Given the description of an element on the screen output the (x, y) to click on. 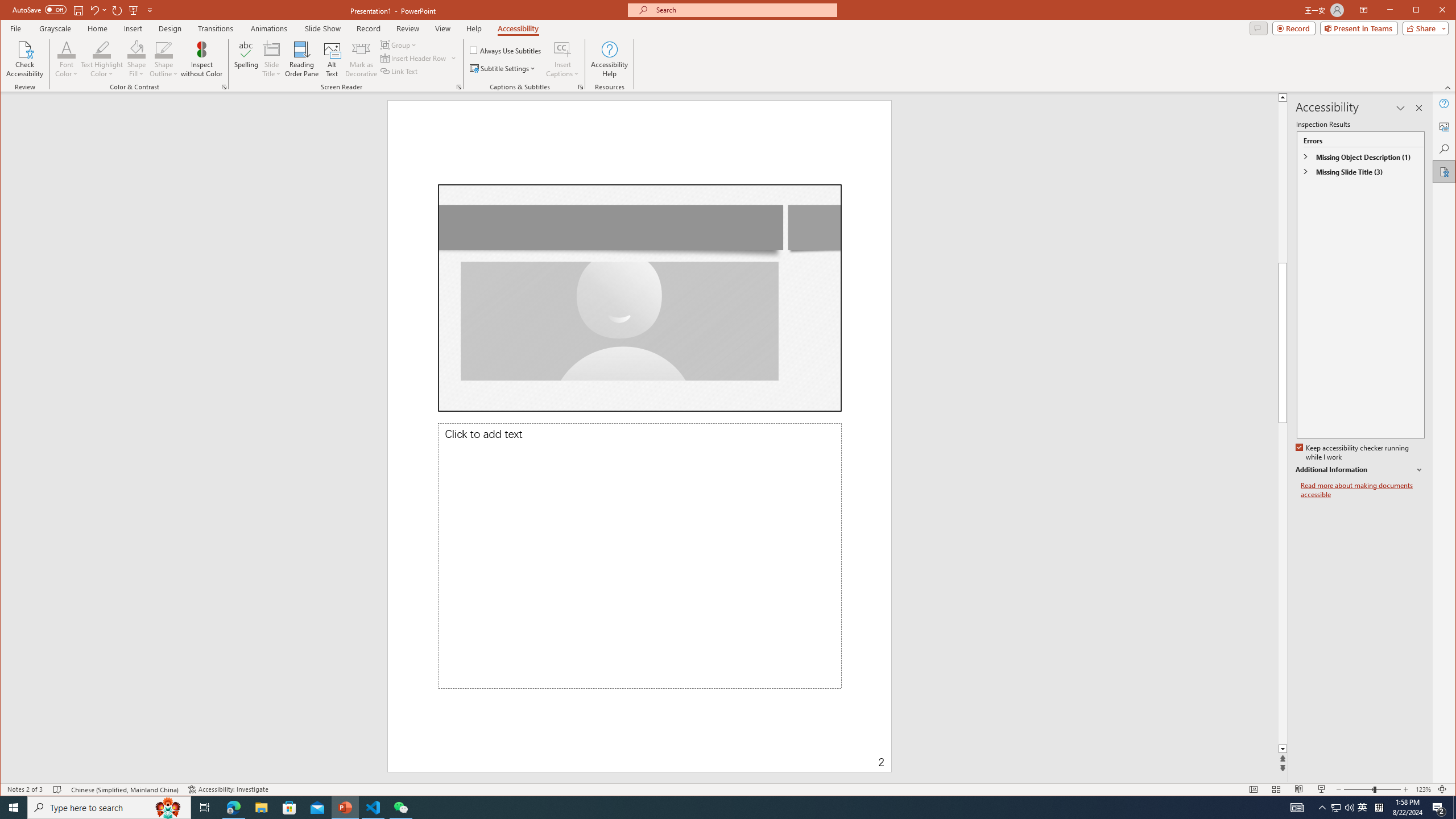
Running applications (707, 807)
Shape Fill (136, 59)
Spell Check No Errors (1362, 807)
Insert Header Row (57, 789)
Captions & Subtitles (413, 57)
Task View (580, 86)
Always Use Subtitles (204, 807)
AutomationID: 4105 (505, 49)
Task Pane Options (1297, 807)
